Given the description of an element on the screen output the (x, y) to click on. 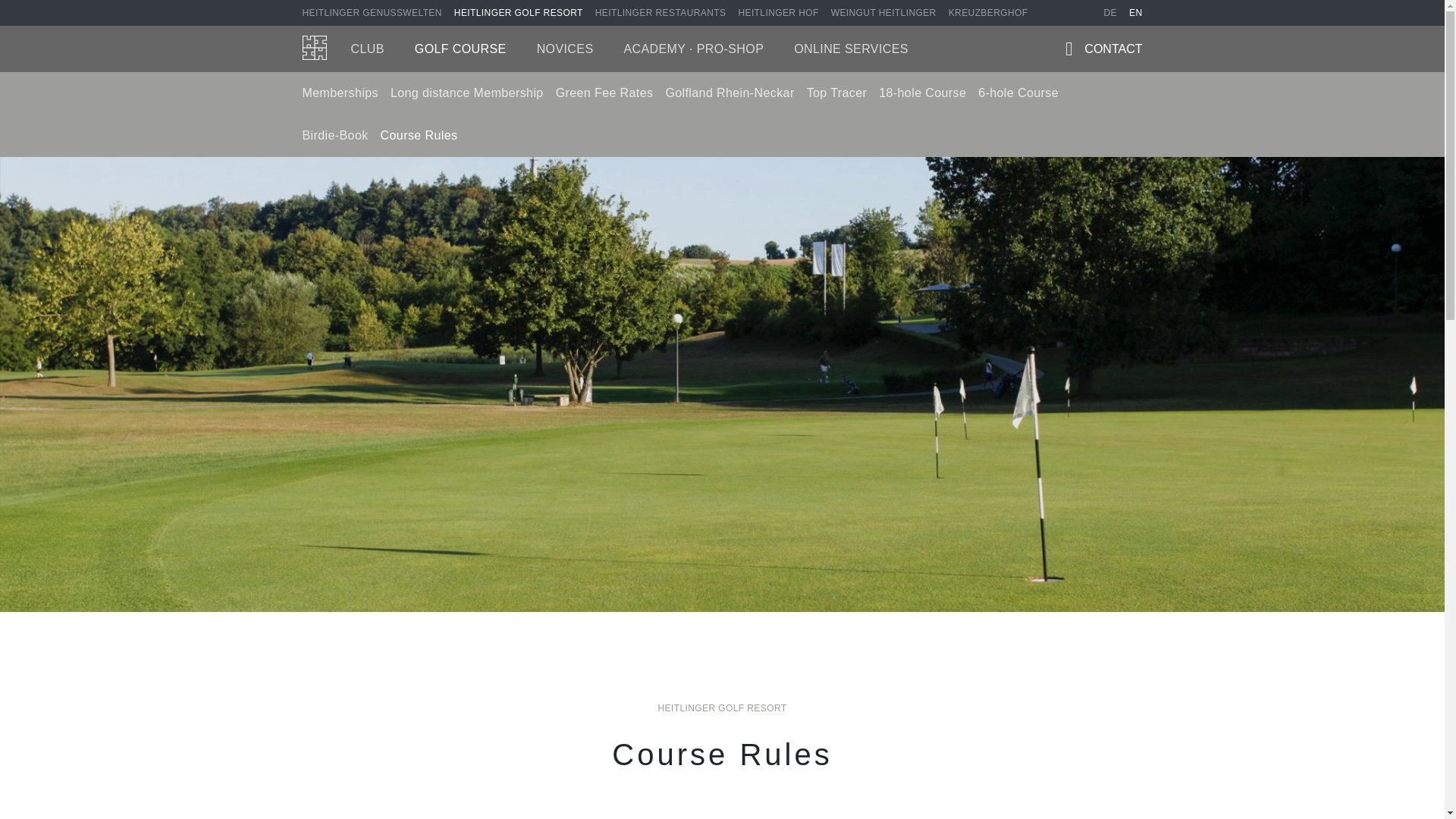
HEITLINGER GENUSSWELTEN (370, 12)
HEITLINGER GOLF RESORT (518, 12)
HEITLINGER GOLF RESORT (518, 12)
HEITLINGER GENUSSWELTEN (370, 12)
